Given the description of an element on the screen output the (x, y) to click on. 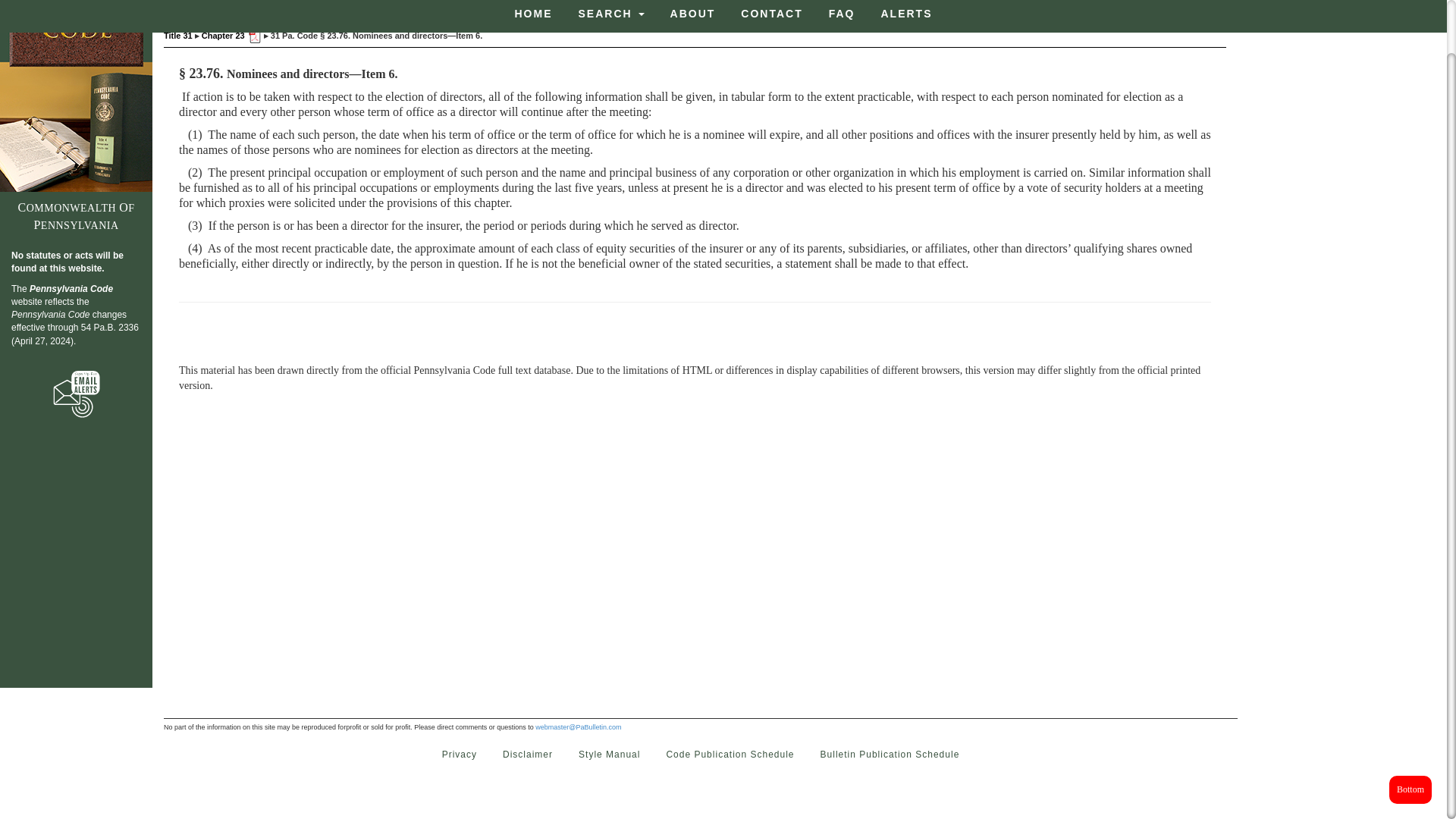
Previous Doc (520, 8)
Title Table of Contents (722, 8)
Disclaimer (528, 754)
Full Screen (871, 8)
Search (783, 8)
Title 31 Contents (722, 8)
Previous Document (520, 8)
Chapter Table of Contents (644, 8)
Print (823, 8)
View PDF for this chapter (253, 35)
Chapter 23 Contents (644, 8)
Style Manual (608, 754)
Chapter 23 (223, 35)
Email Alerts (76, 394)
Next Document (577, 8)
